Given the description of an element on the screen output the (x, y) to click on. 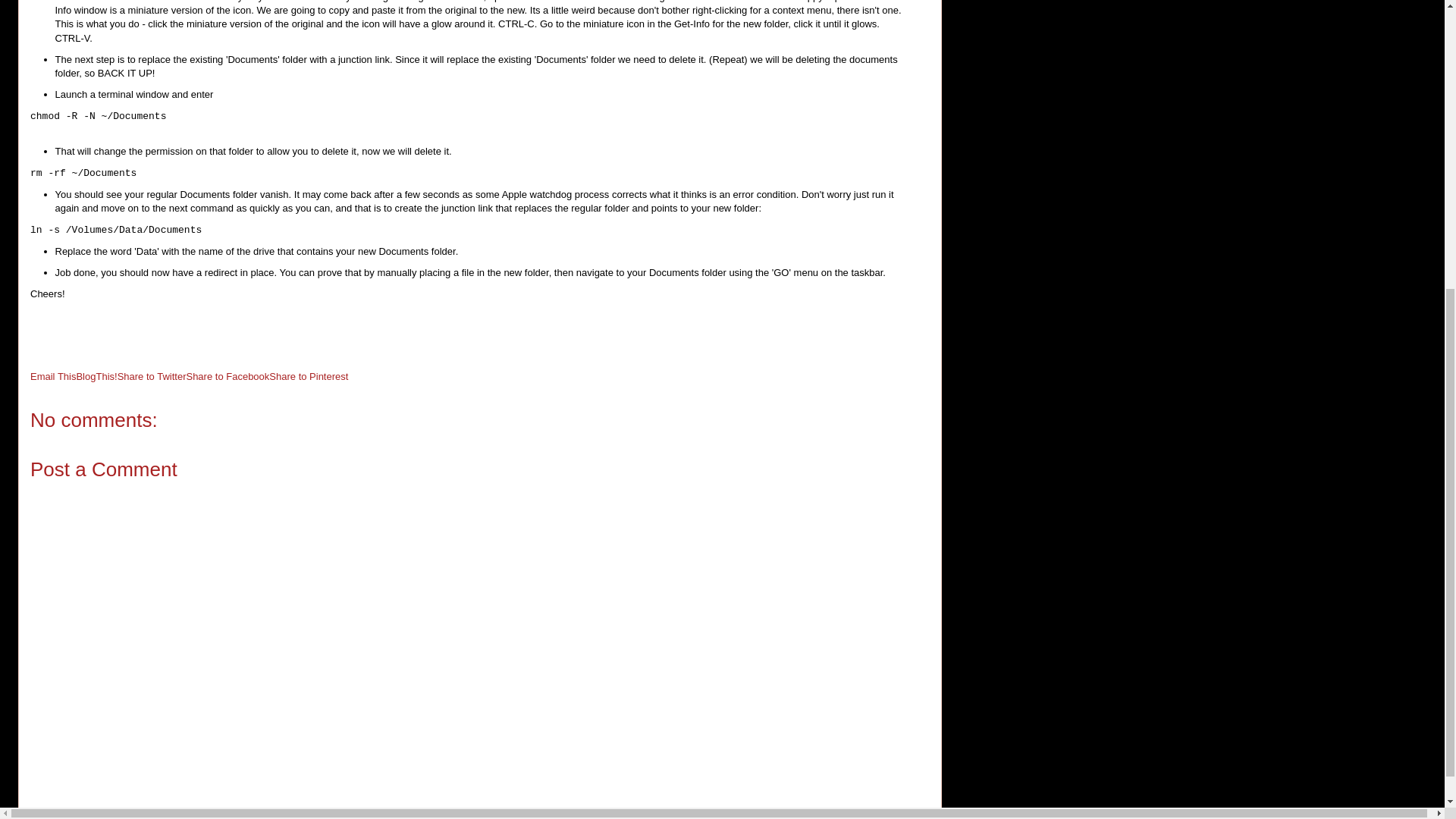
Email This (52, 376)
Share to Pinterest (308, 376)
Email This (52, 376)
Share to Facebook (227, 376)
BlogThis! (95, 376)
BlogThis! (95, 376)
Share to Facebook (227, 376)
Share to Pinterest (308, 376)
Share to Twitter (151, 376)
Share to Twitter (151, 376)
